Given the description of an element on the screen output the (x, y) to click on. 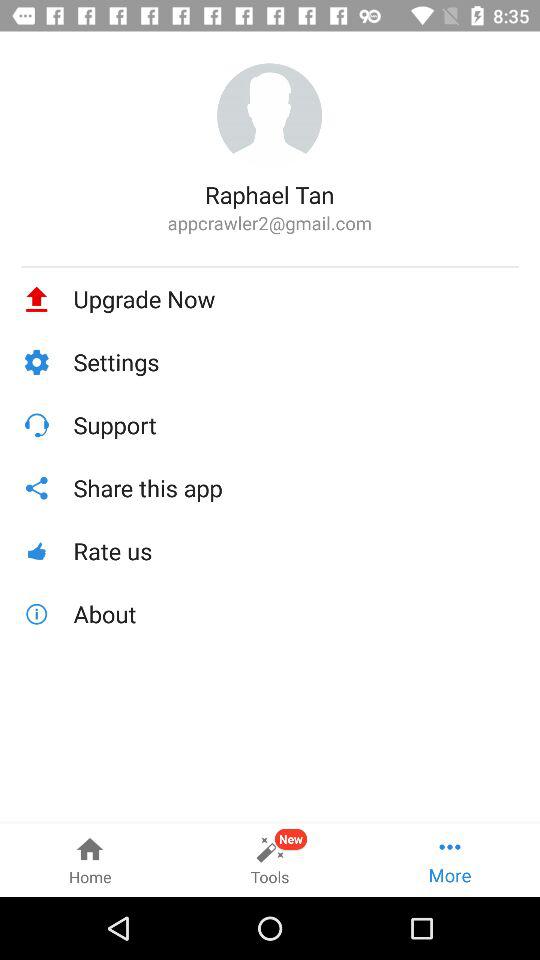
press the icon below the settings item (296, 424)
